Given the description of an element on the screen output the (x, y) to click on. 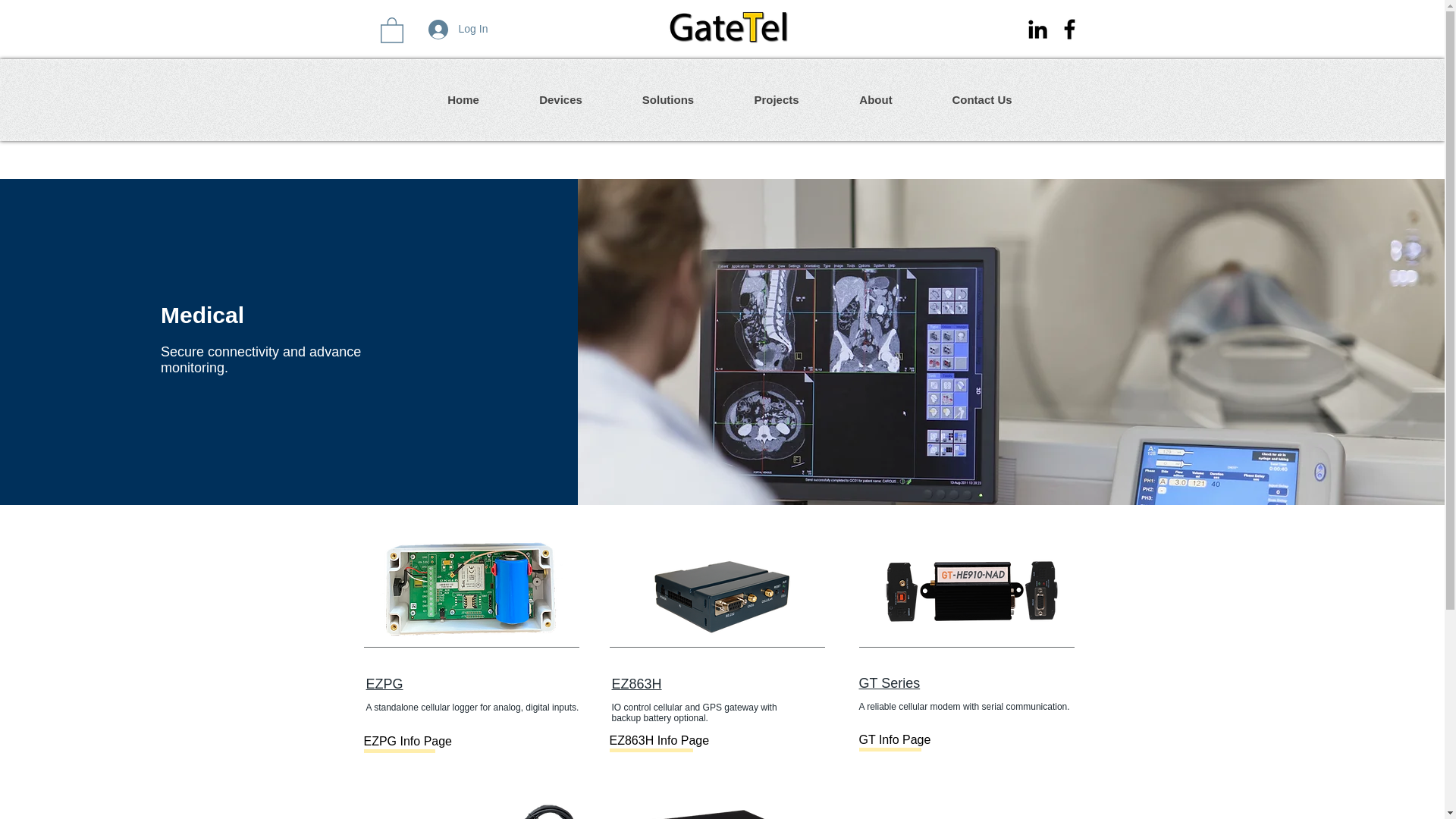
Projects (775, 99)
GT Info Page (908, 740)
EZPG Info Page (414, 742)
EZPG (384, 683)
Solutions (667, 99)
About (874, 99)
EZ863H (636, 683)
EZ863H Info Page (660, 741)
Contact Us (981, 99)
Log In (447, 29)
GT Series (889, 683)
Devices (560, 99)
Home (462, 99)
